Given the description of an element on the screen output the (x, y) to click on. 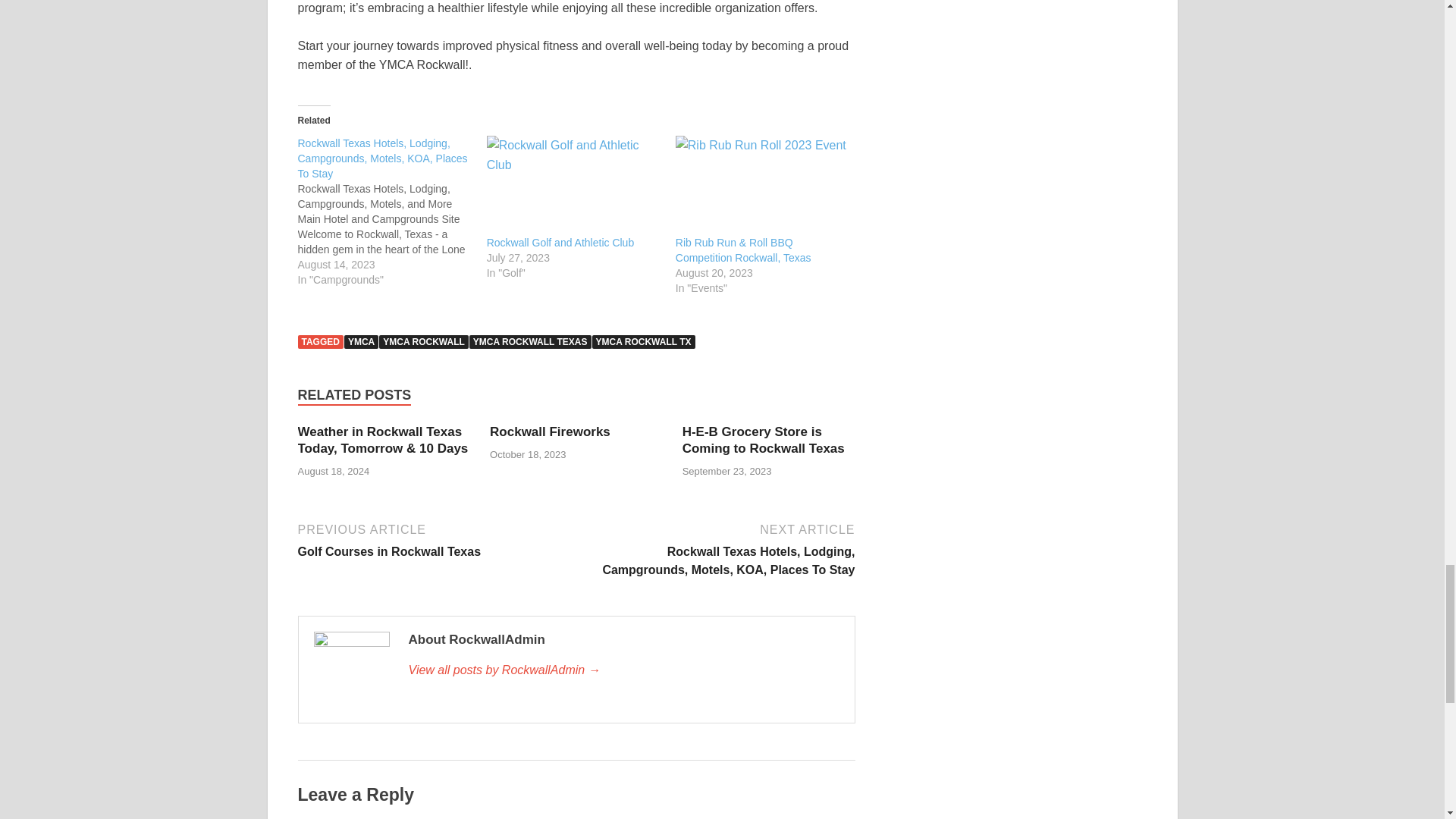
Rockwall Golf and Athletic Club (560, 242)
RockwallAdmin (622, 669)
H-E-B Grocery Store is Coming to Rockwall Texas (763, 440)
Rockwall Fireworks (549, 431)
Rockwall Golf and Athletic Club (573, 185)
